Given the description of an element on the screen output the (x, y) to click on. 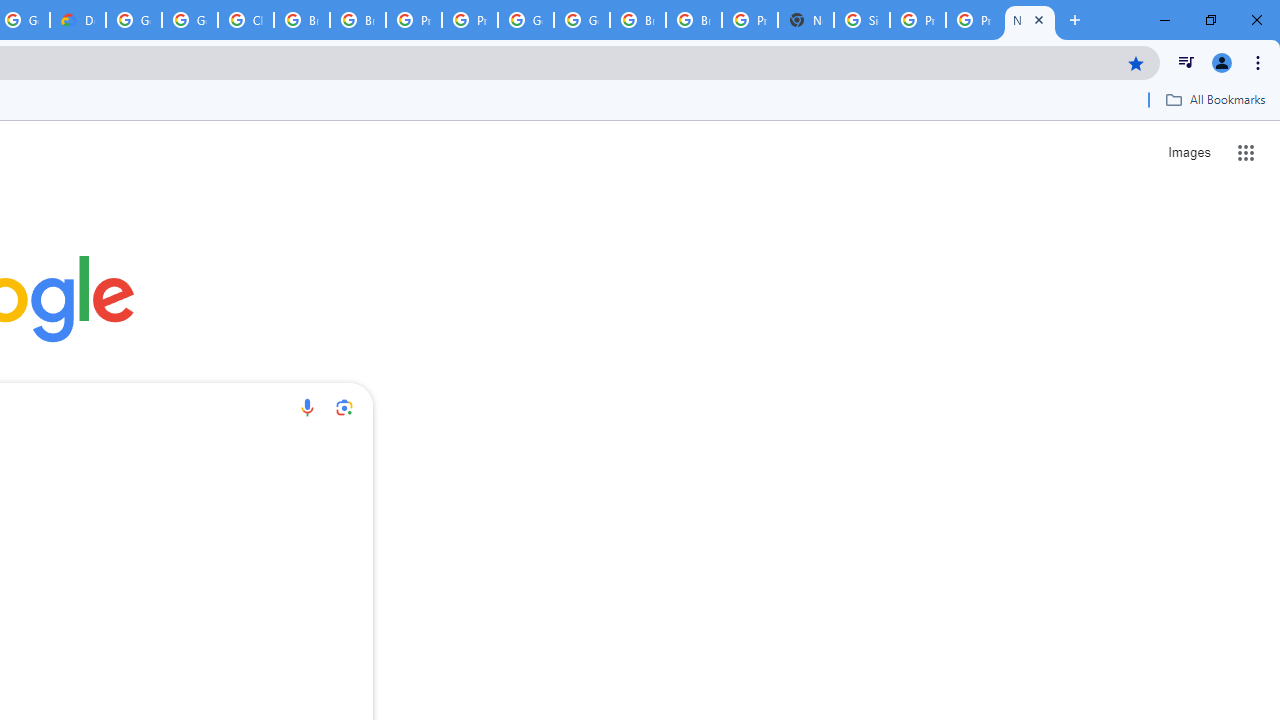
Sign in - Google Accounts (861, 20)
Google Cloud Platform (525, 20)
Search by image (344, 407)
Google apps (1245, 152)
Search for Images  (1188, 152)
New Tab (1030, 20)
Google Cloud Platform (582, 20)
Search by voice (307, 407)
